Given the description of an element on the screen output the (x, y) to click on. 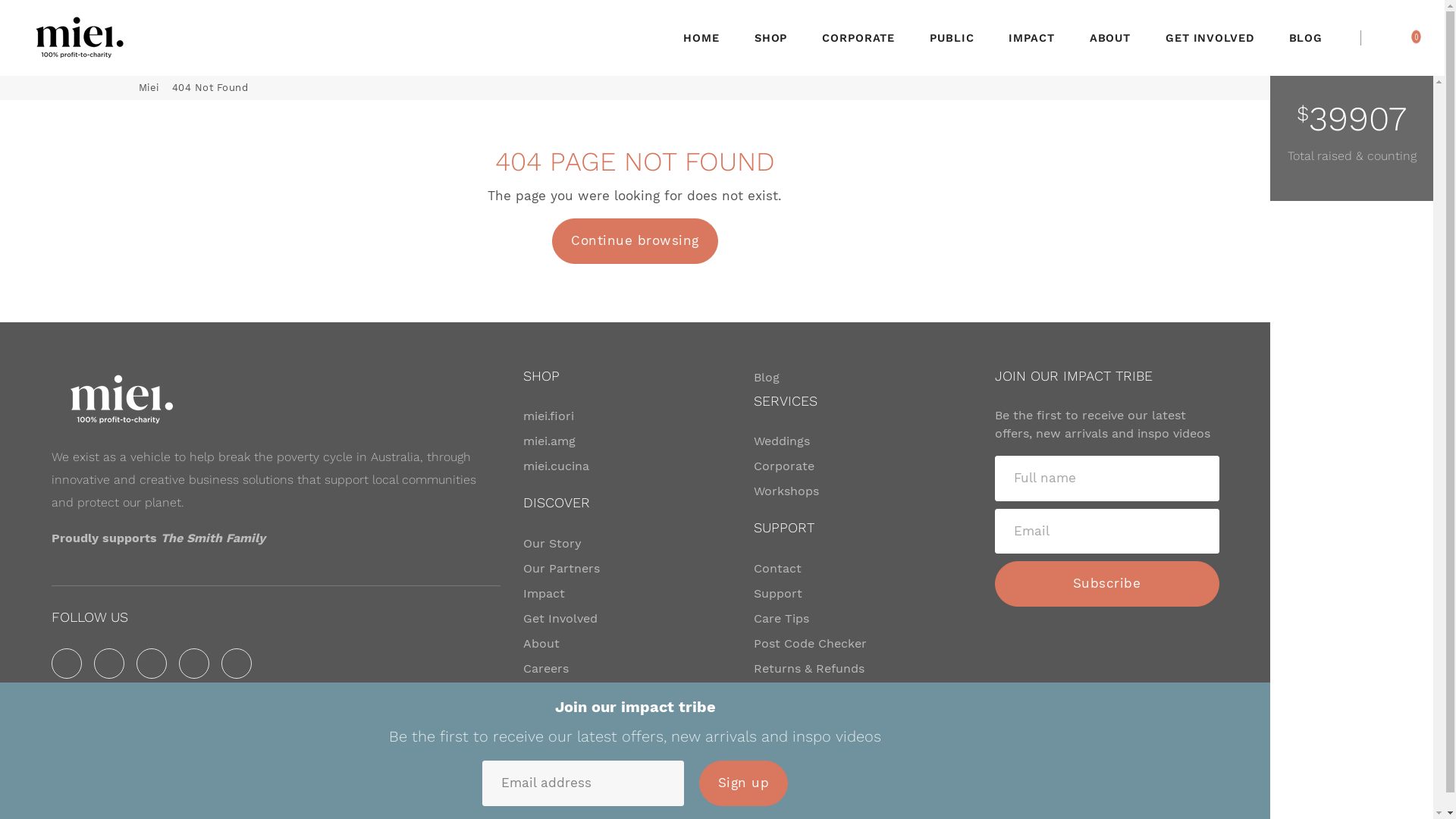
Subscribe Element type: text (1106, 583)
miei.amg Element type: text (549, 441)
ABOUT Element type: text (1109, 38)
GET INVOLVED Element type: text (1209, 38)
Continue browsing Element type: text (635, 240)
IMPACT Element type: text (1031, 38)
Sign up Element type: text (743, 783)
Terms and Conditions Element type: text (1139, 795)
Blog Element type: text (766, 377)
0
Cart Element type: text (1415, 36)
Confetti Design Element type: text (333, 802)
miei.cucina Element type: text (556, 466)
Care Tips Element type: text (781, 618)
Corporate Element type: text (783, 466)
Our Story Element type: text (552, 543)
Workshops Element type: text (786, 491)
Our Partners Element type: text (561, 568)
Search Element type: text (1391, 36)
Get Involved Element type: text (560, 618)
Miei Element type: text (148, 87)
HOME Element type: text (701, 38)
Privacy Policy Element type: text (990, 795)
Support Element type: text (777, 593)
Careers Element type: text (545, 668)
Weddings Element type: text (781, 441)
miei.fiori Element type: text (548, 416)
CORPORATE Element type: text (858, 38)
BLOG Element type: text (1306, 38)
Post Code Checker Element type: text (809, 643)
About Element type: text (541, 643)
Returns & Refunds Element type: text (808, 668)
Log In Element type: text (1379, 36)
SHOP Element type: text (771, 38)
PUBLIC Element type: text (951, 38)
Miei Element type: text (76, 37)
Contact Element type: text (777, 568)
1300 48 23 48 Element type: text (448, 768)
Impact Element type: text (543, 593)
